Given the description of an element on the screen output the (x, y) to click on. 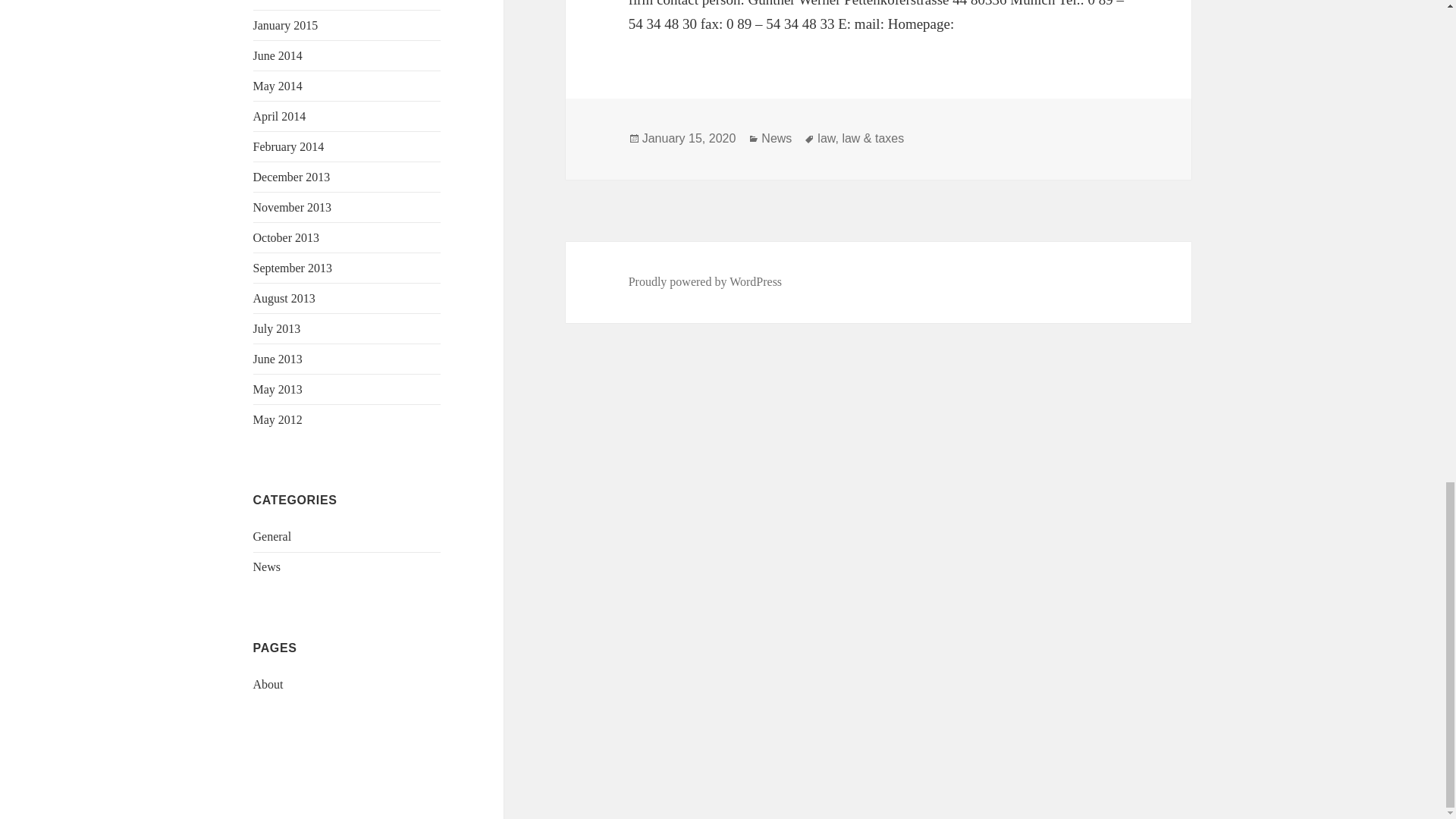
June 2014 (277, 55)
April 2014 (279, 115)
January 2015 (285, 24)
May 2014 (277, 85)
November 2015 (292, 0)
November 2013 (292, 206)
February 2014 (288, 146)
December 2013 (291, 176)
